Given the description of an element on the screen output the (x, y) to click on. 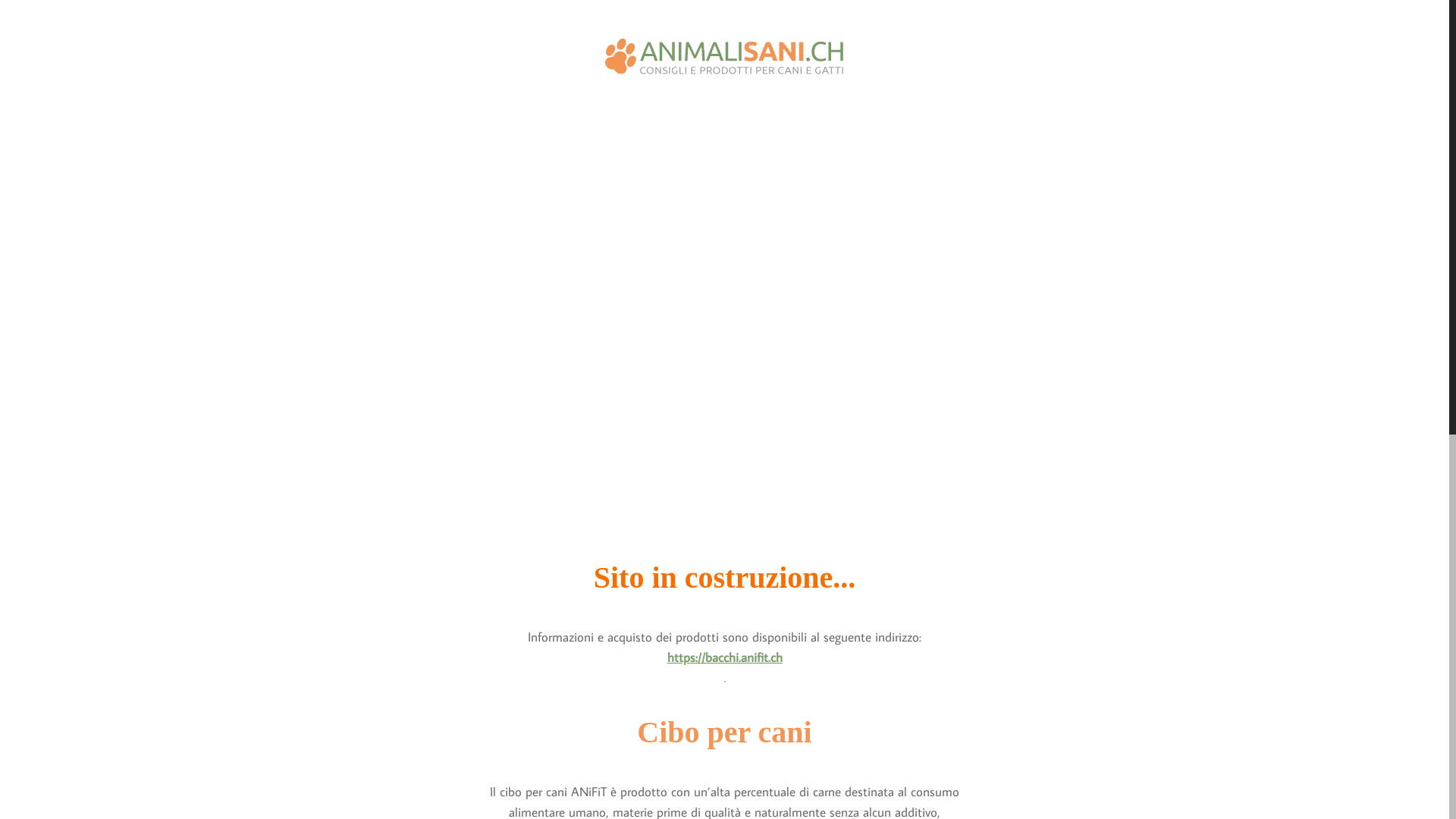
https://bacchi.anifit.ch Element type: text (724, 657)
